Given the description of an element on the screen output the (x, y) to click on. 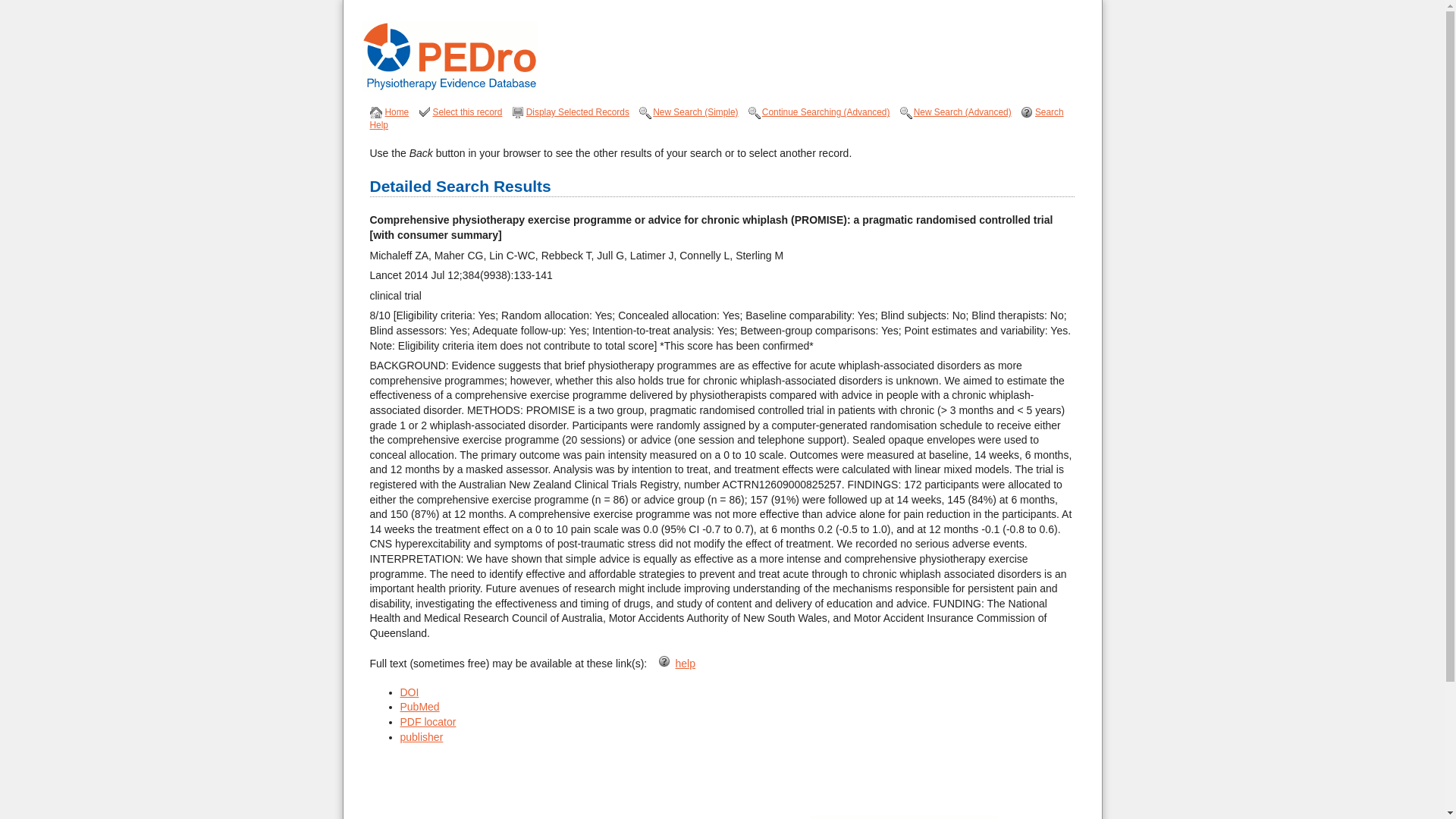
DOI Element type: text (409, 692)
Display Selected Records Element type: text (577, 111)
Search Help Element type: text (716, 118)
PDF locator Element type: text (428, 721)
New Search (Advanced) Element type: text (962, 111)
Continue Searching (Advanced) Element type: text (826, 111)
help Element type: text (685, 663)
publisher Element type: text (421, 737)
Home Element type: text (397, 111)
Select this record Element type: text (467, 111)
PubMed Element type: text (419, 706)
New Search (Simple) Element type: text (694, 111)
